Given the description of an element on the screen output the (x, y) to click on. 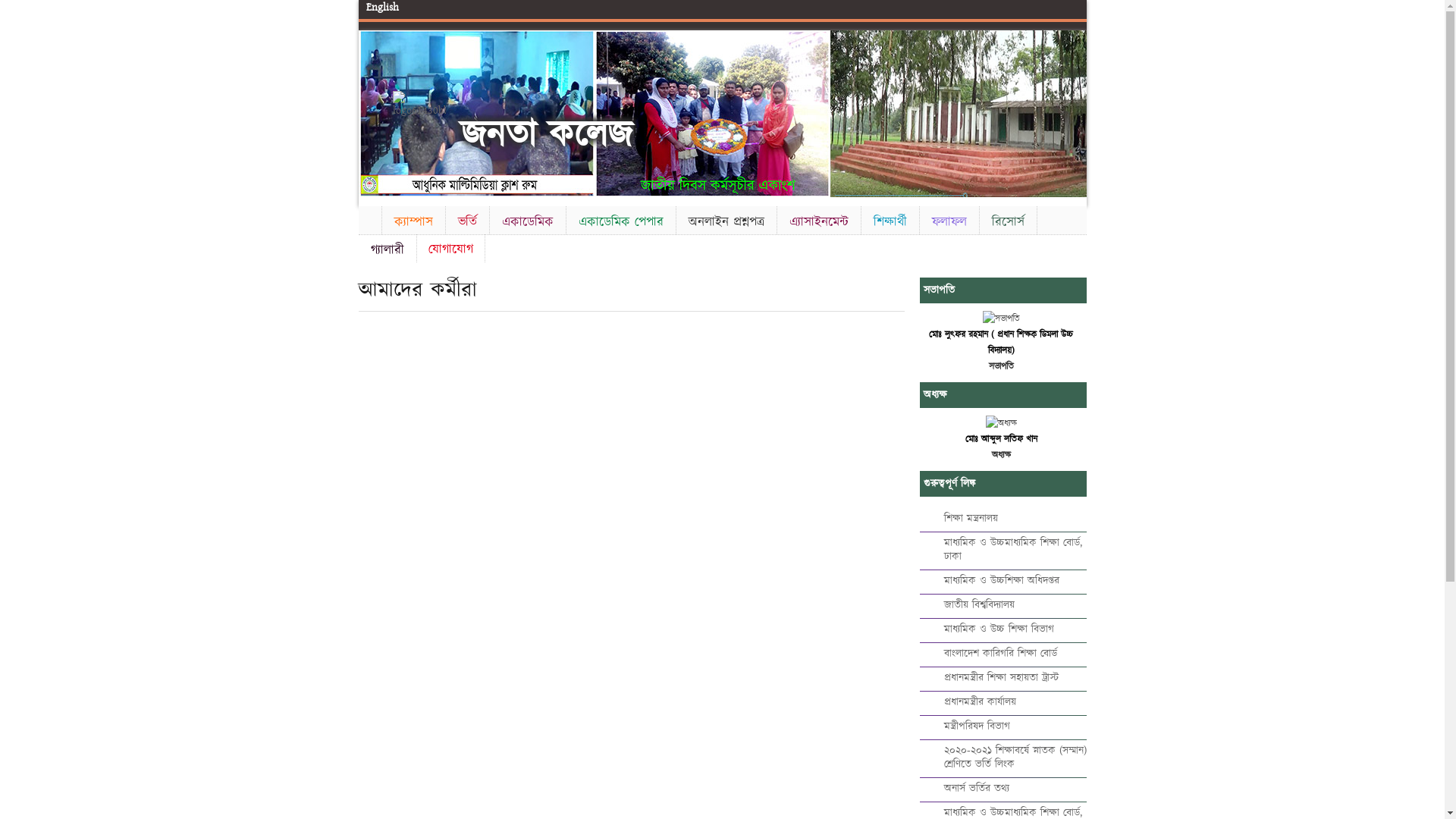
Next Element type: text (1071, 110)
Previous Element type: text (371, 110)
English Element type: text (382, 7)
